Given the description of an element on the screen output the (x, y) to click on. 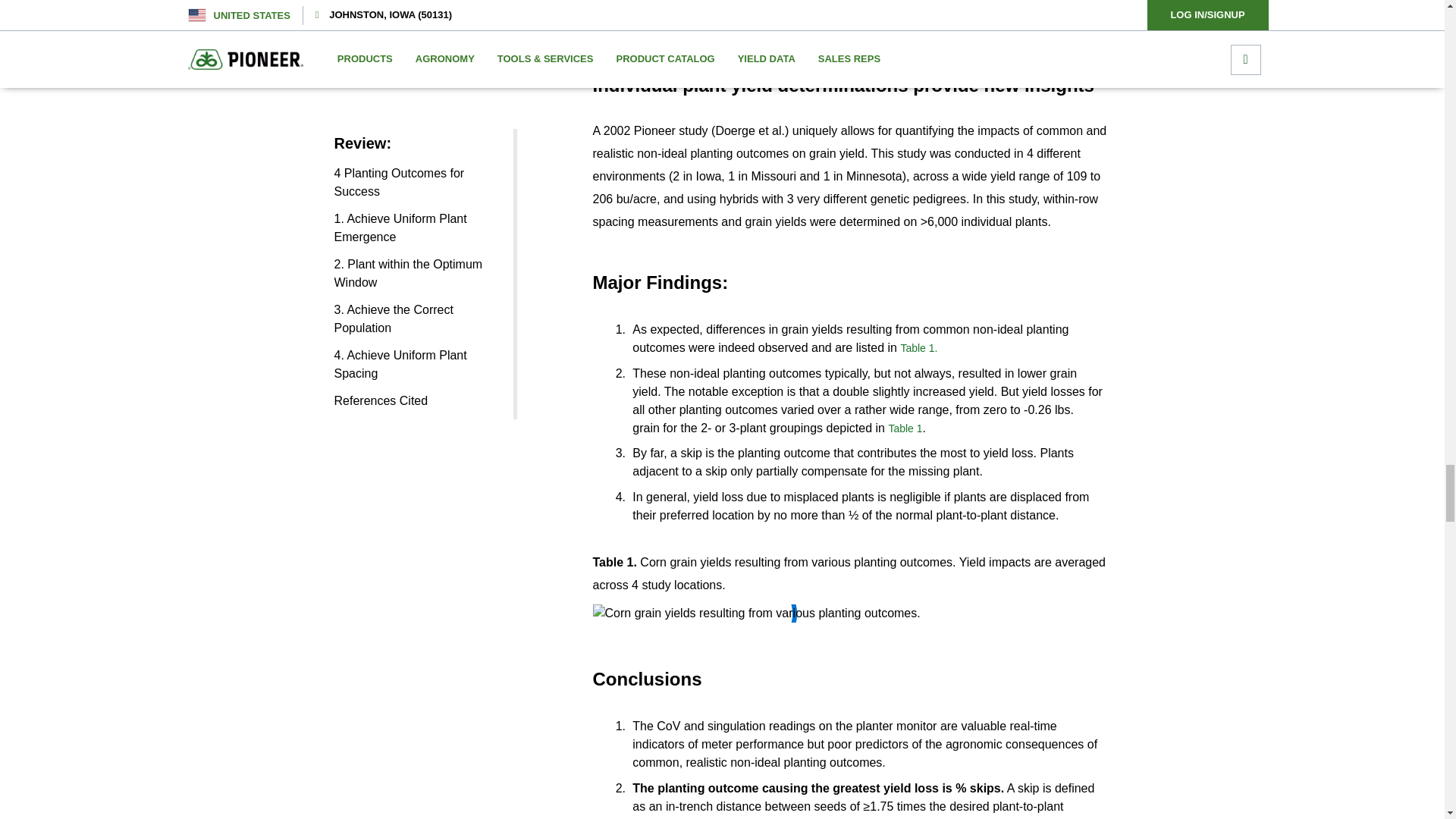
Corn row plant spacing (660, 12)
Corn grain yields resulting from various planting outcomes. (756, 613)
